Given the description of an element on the screen output the (x, y) to click on. 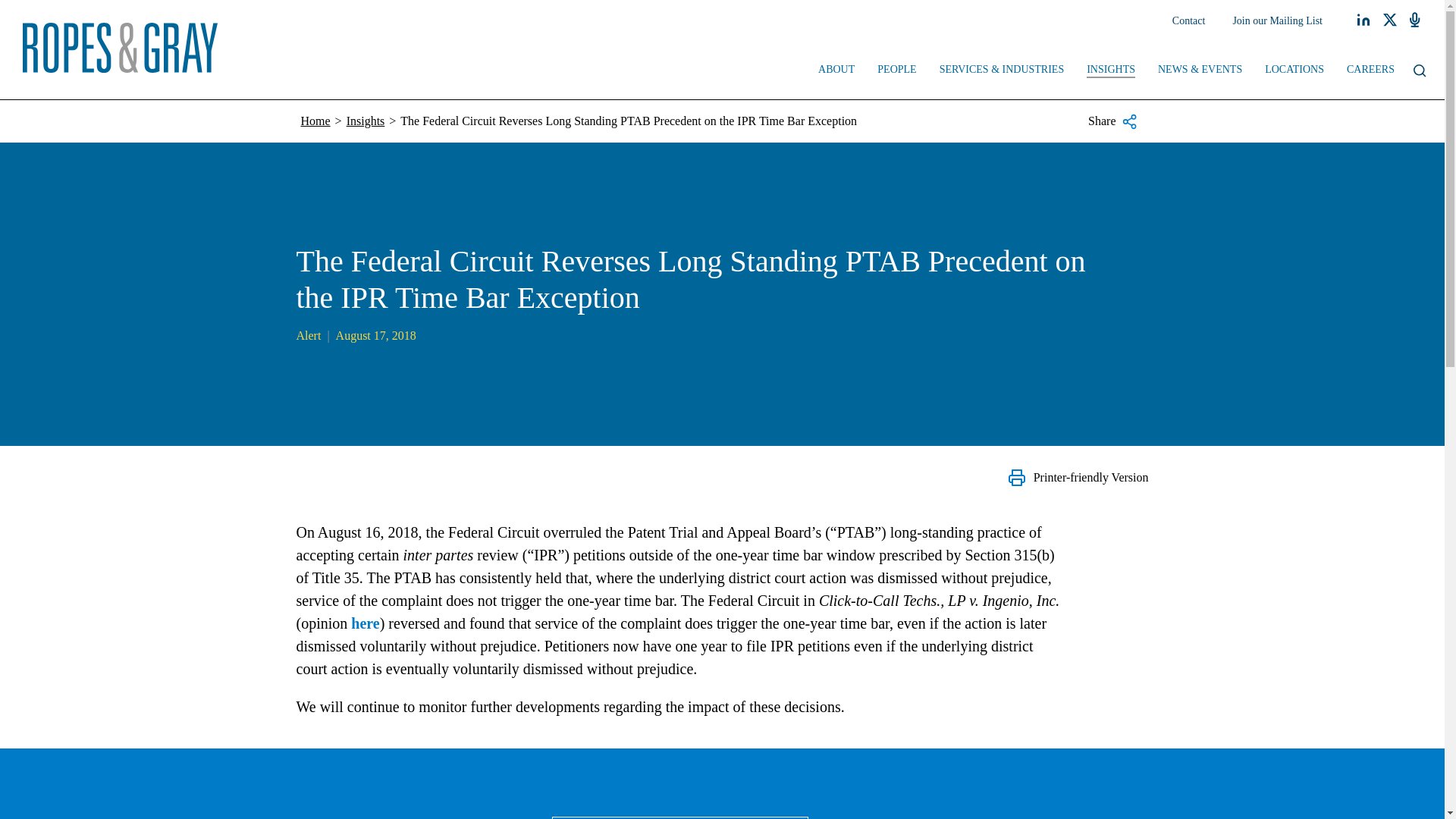
CAREERS (1370, 70)
INSIGHTS (1111, 70)
Share (1112, 121)
ABOUT (836, 70)
Contact (1189, 21)
Join our Mailing List (1277, 21)
Printer-friendly Version (1077, 477)
PEOPLE (896, 70)
LOCATIONS (1294, 70)
here (364, 623)
Insights (366, 121)
Home (314, 121)
